Given the description of an element on the screen output the (x, y) to click on. 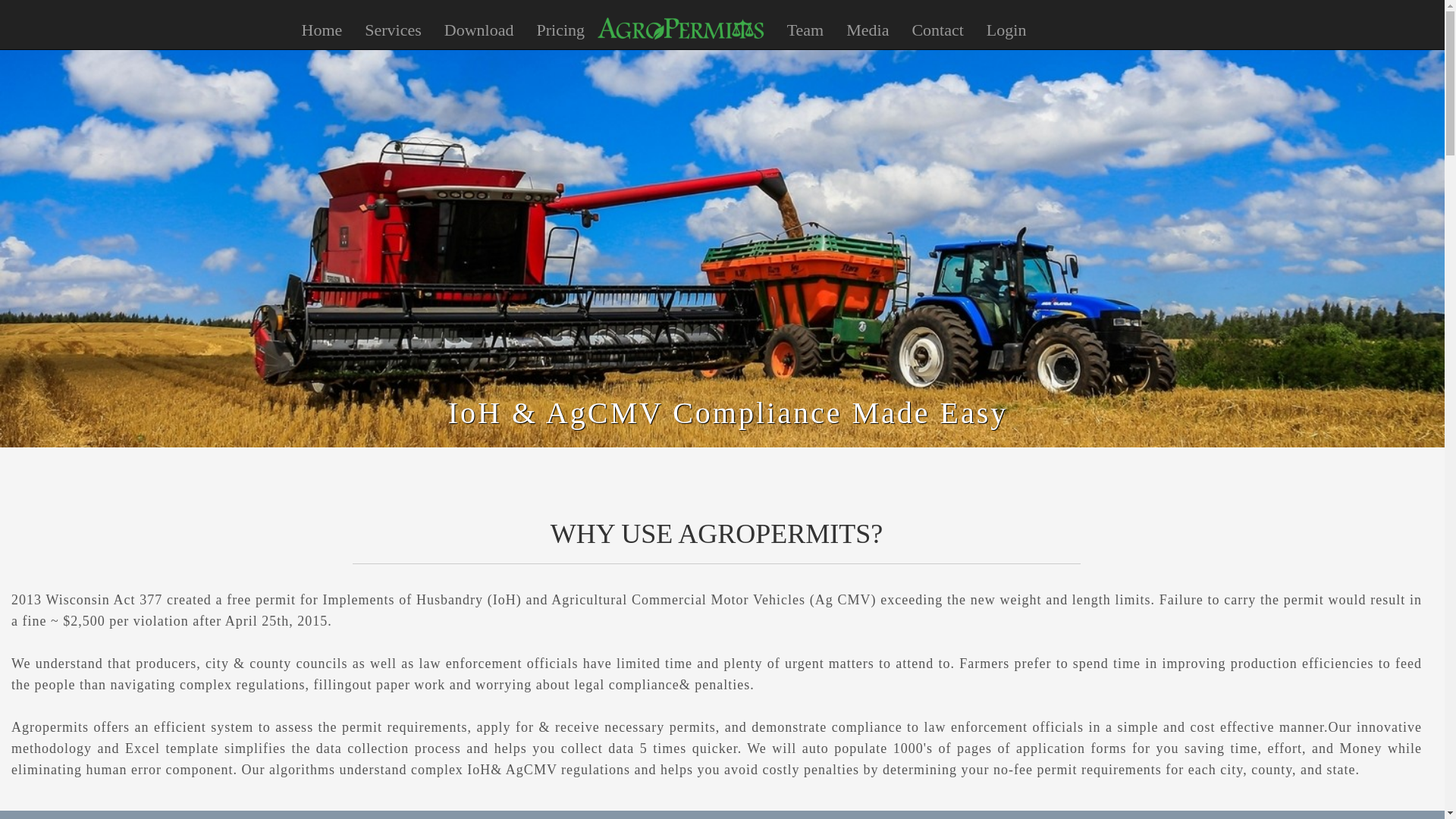
Home (321, 30)
Pricing (559, 30)
Media (866, 30)
Download (478, 30)
Contact (936, 30)
Login (1006, 30)
Team (805, 30)
Services (392, 30)
